Given the description of an element on the screen output the (x, y) to click on. 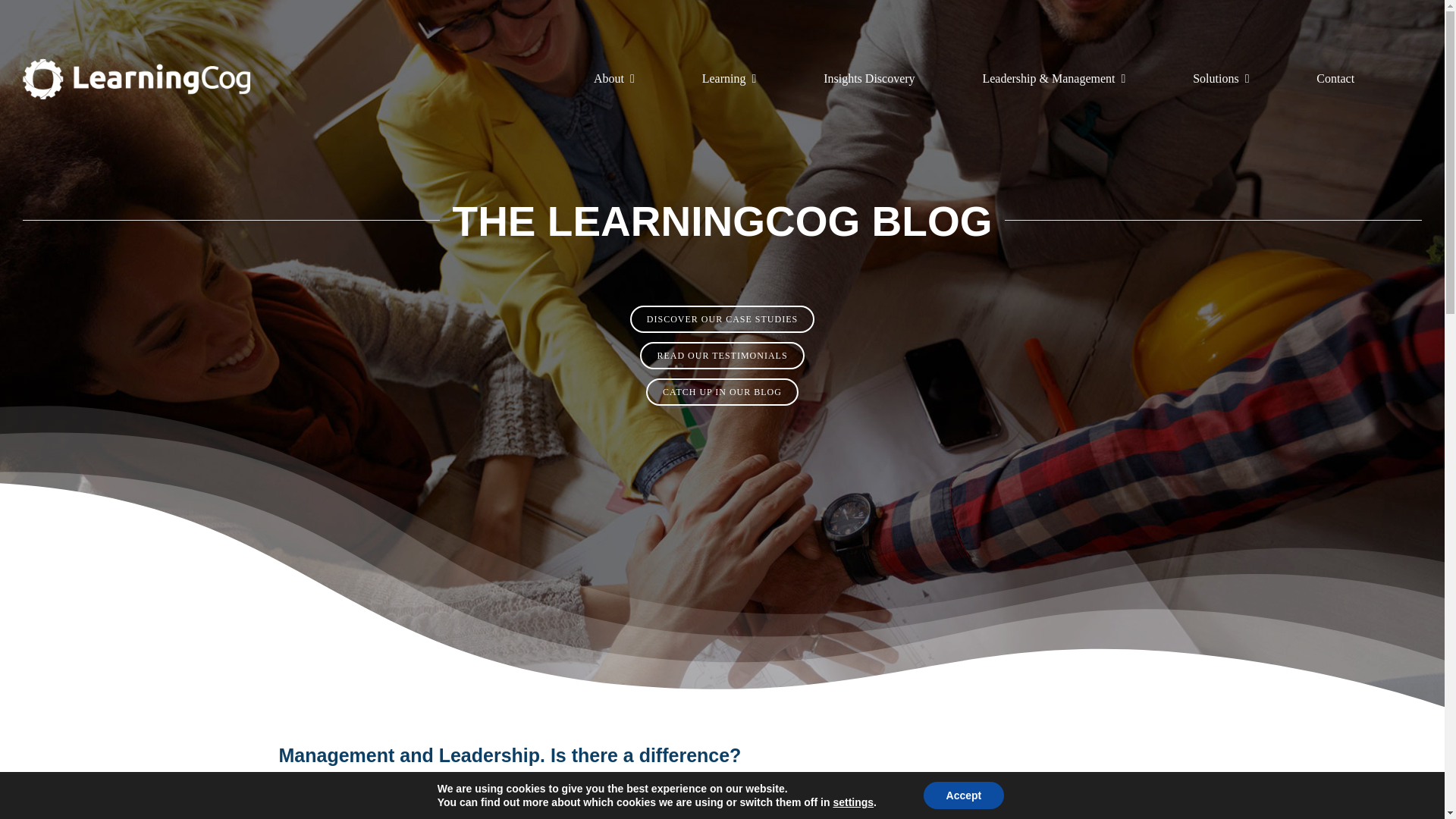
Insights Discovery (869, 78)
Solutions (1220, 78)
Leadership (604, 735)
READ OUR TESTIMONIALS (721, 355)
Home (566, 735)
DISCOVER OUR CASE STUDIES (721, 318)
Management (649, 735)
Learning (729, 78)
CATCH UP IN OUR BLOG (721, 391)
Success (690, 735)
